Given the description of an element on the screen output the (x, y) to click on. 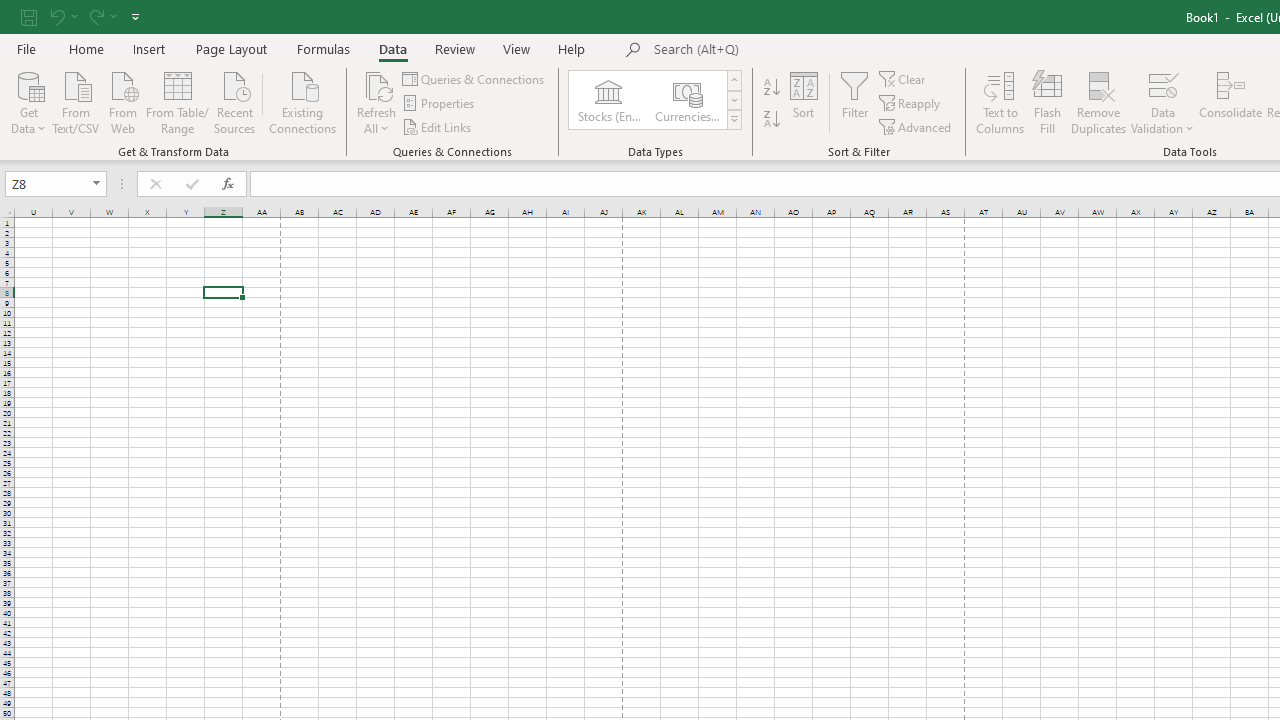
Data Types (734, 120)
Microsoft search (792, 49)
Remove Duplicates (1098, 102)
From Table/Range (177, 101)
From Text/CSV (75, 101)
AutomationID: ConvertToLinkedEntity (655, 99)
Properties (440, 103)
